Given the description of an element on the screen output the (x, y) to click on. 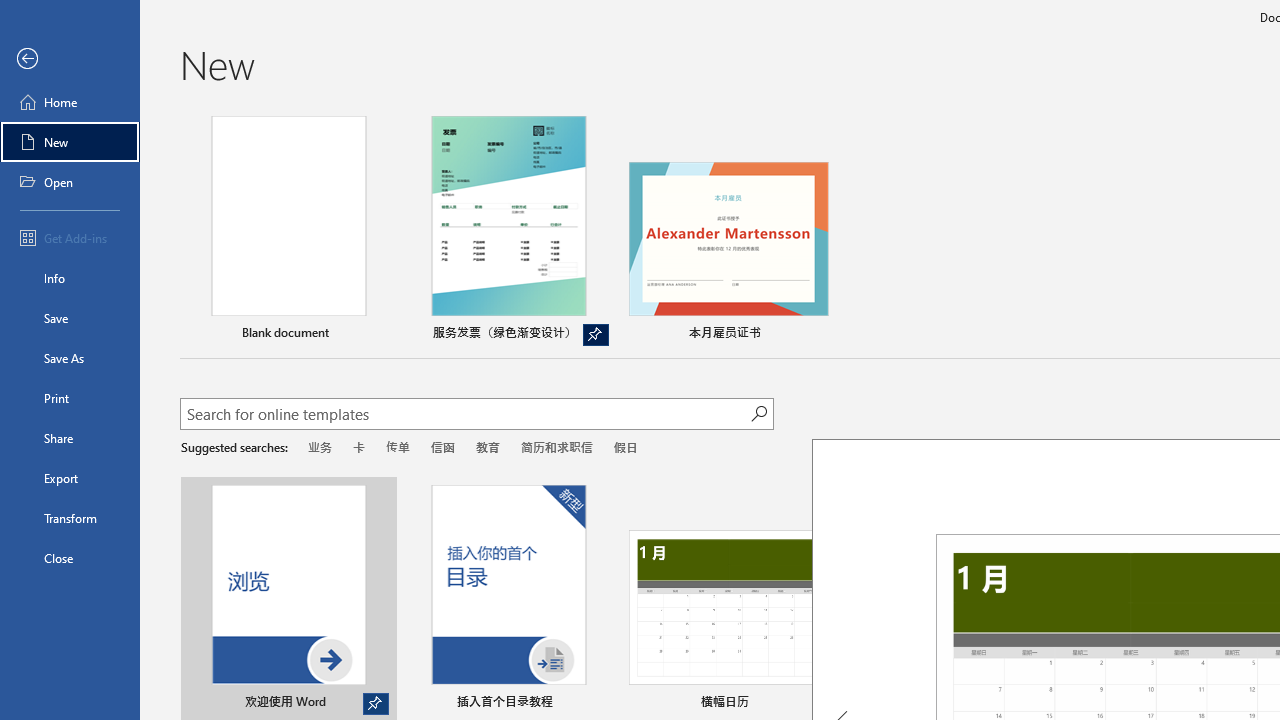
New (69, 141)
Pin to list (1255, 703)
Unpin from list (595, 335)
Info (69, 277)
Transform (69, 517)
